Given the description of an element on the screen output the (x, y) to click on. 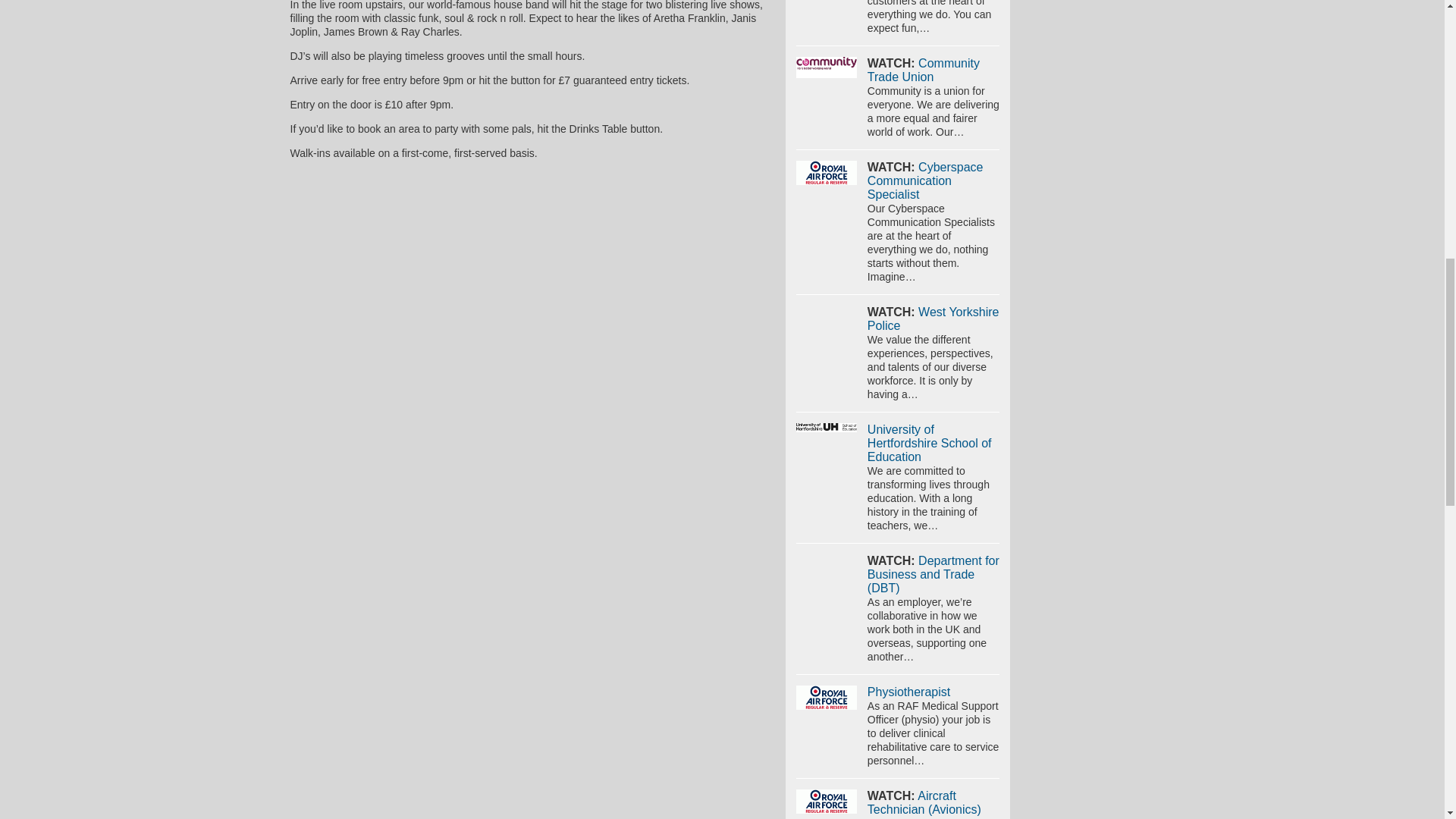
Community Trade Union (826, 66)
AllSaints (826, 0)
Community Trade Union (923, 69)
Cyberspace Communication Specialist (826, 172)
